Given the description of an element on the screen output the (x, y) to click on. 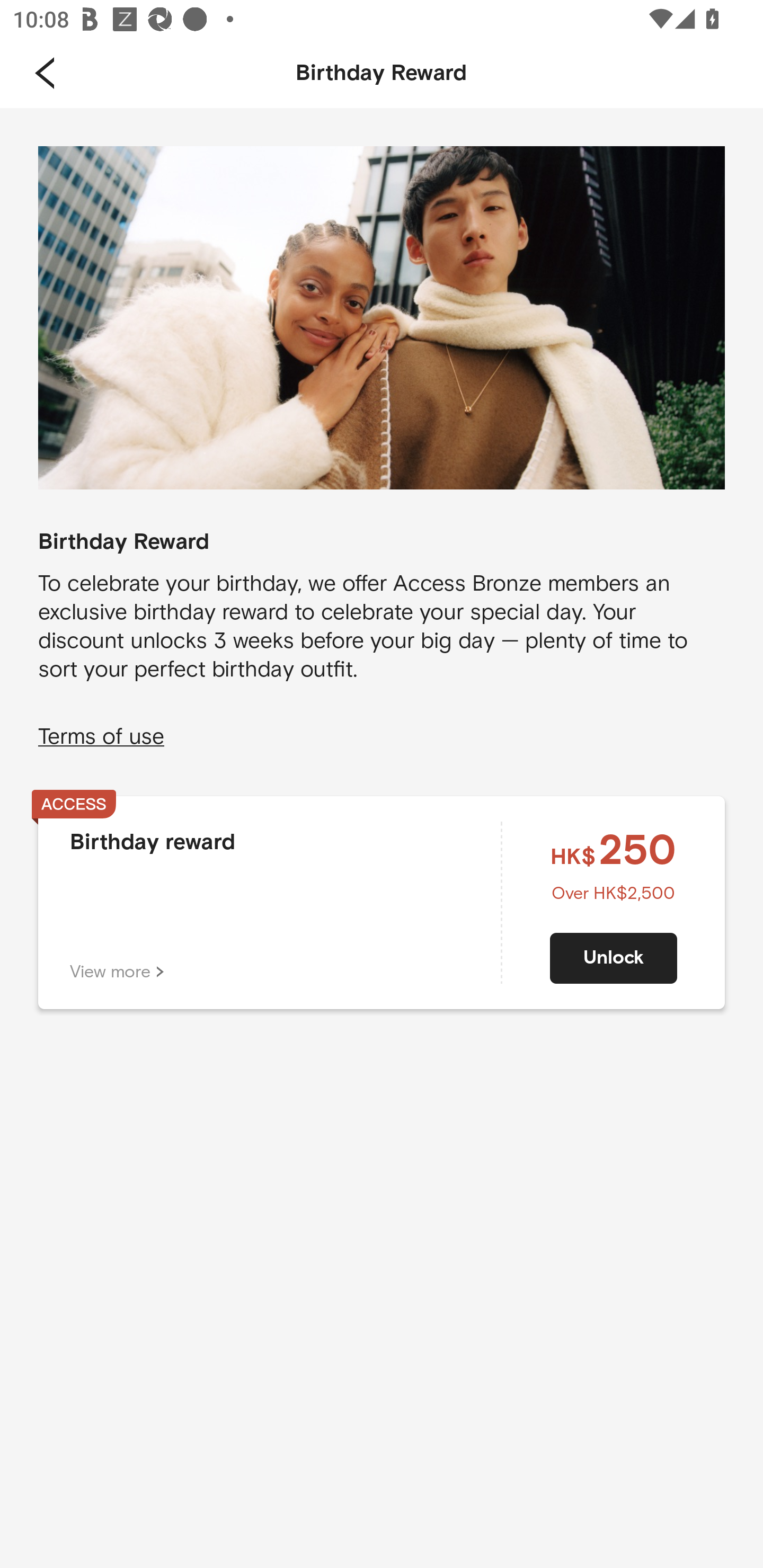
Unlock (613, 957)
View more (117, 971)
